Given the description of an element on the screen output the (x, y) to click on. 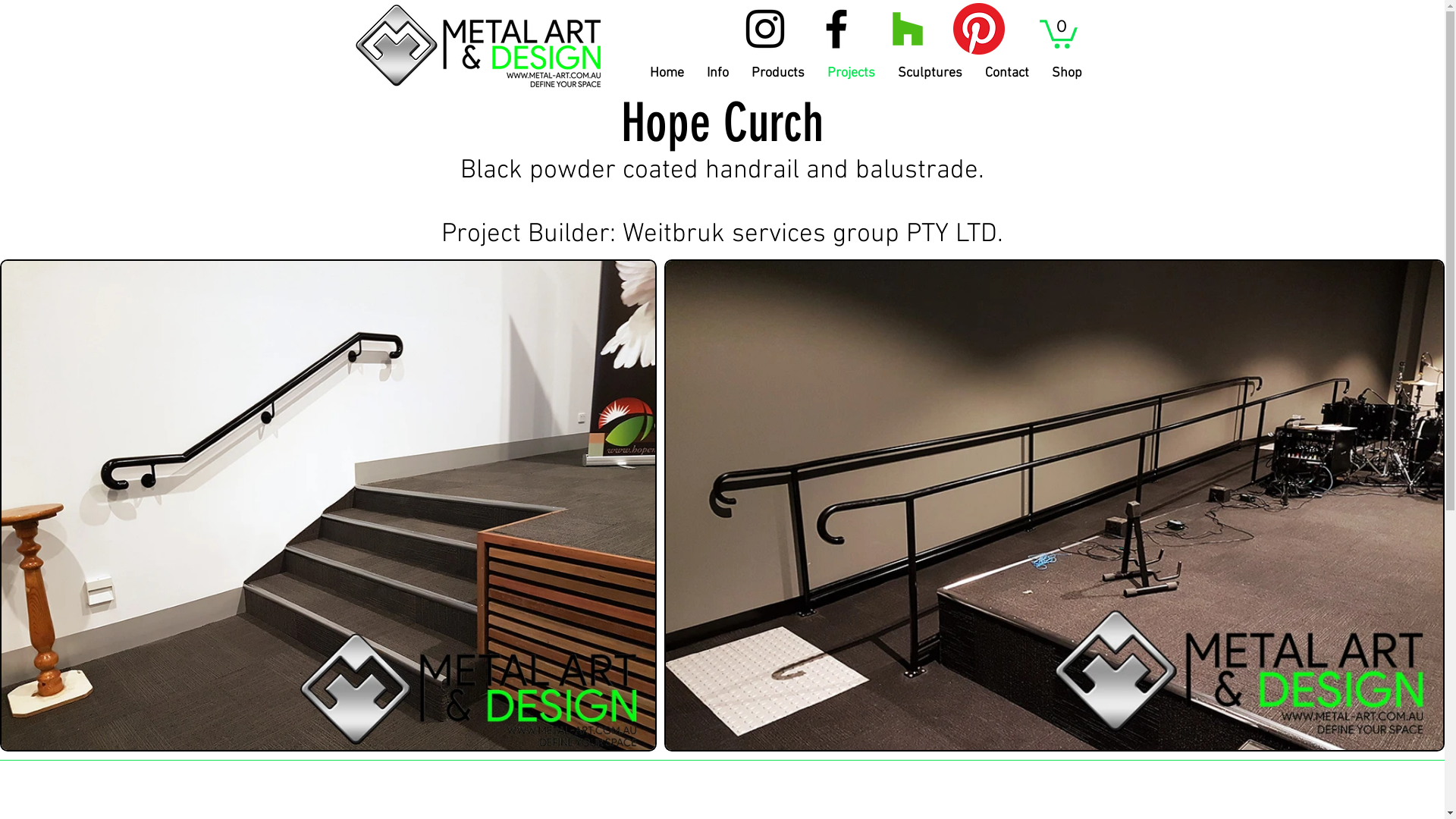
Contact Element type: text (1006, 73)
0 Element type: text (1057, 32)
Projects Element type: text (850, 73)
Shop Element type: text (1066, 73)
Home Element type: text (666, 73)
Sculptures Element type: text (928, 73)
Info Element type: text (716, 73)
Products Element type: text (777, 73)
